Given the description of an element on the screen output the (x, y) to click on. 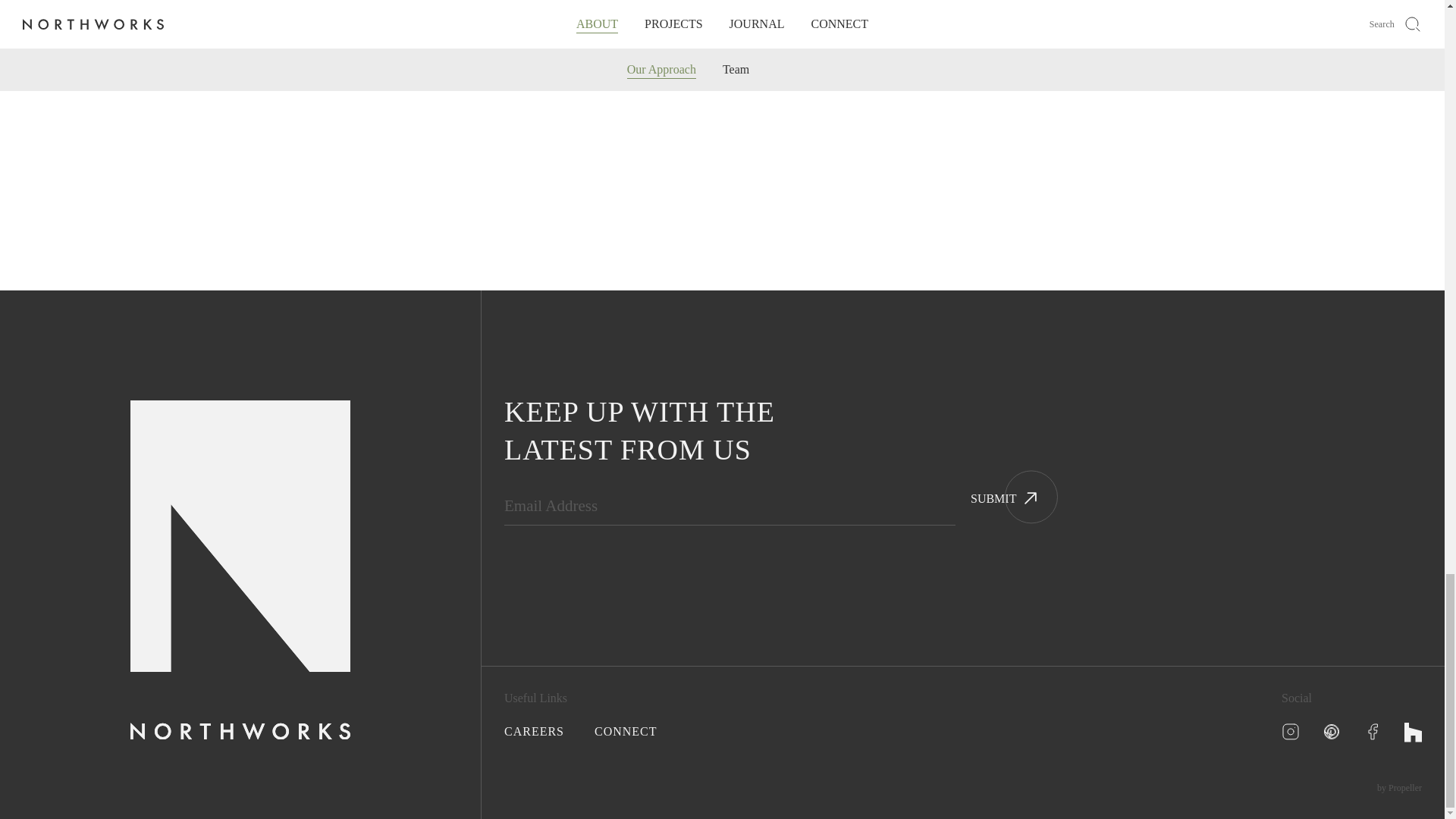
SUBMIT (987, 506)
by Propeller (1399, 787)
CONNECT (626, 730)
CAREERS (533, 730)
